Given the description of an element on the screen output the (x, y) to click on. 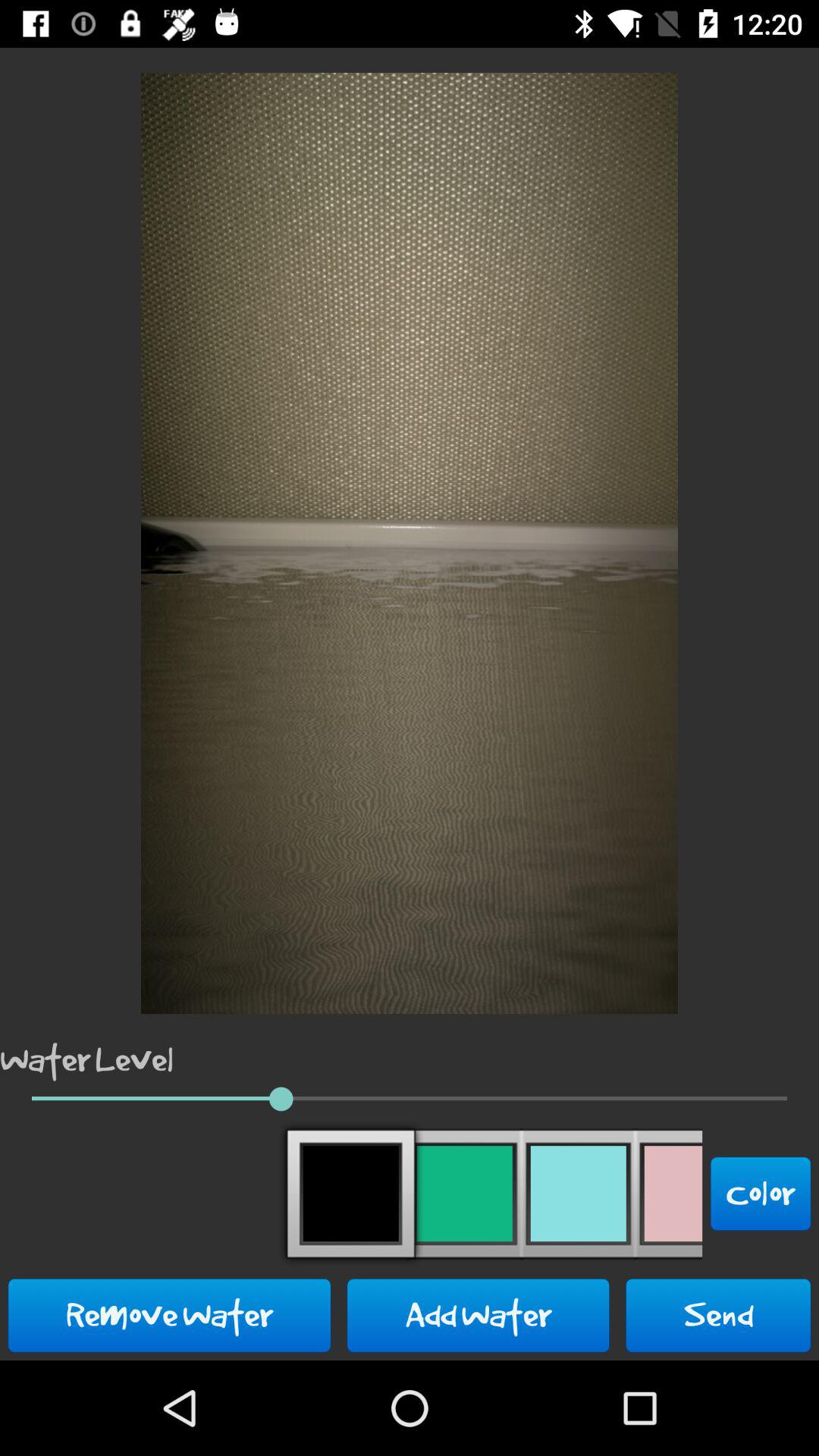
select the button to the right of remove water button (477, 1315)
